Given the description of an element on the screen output the (x, y) to click on. 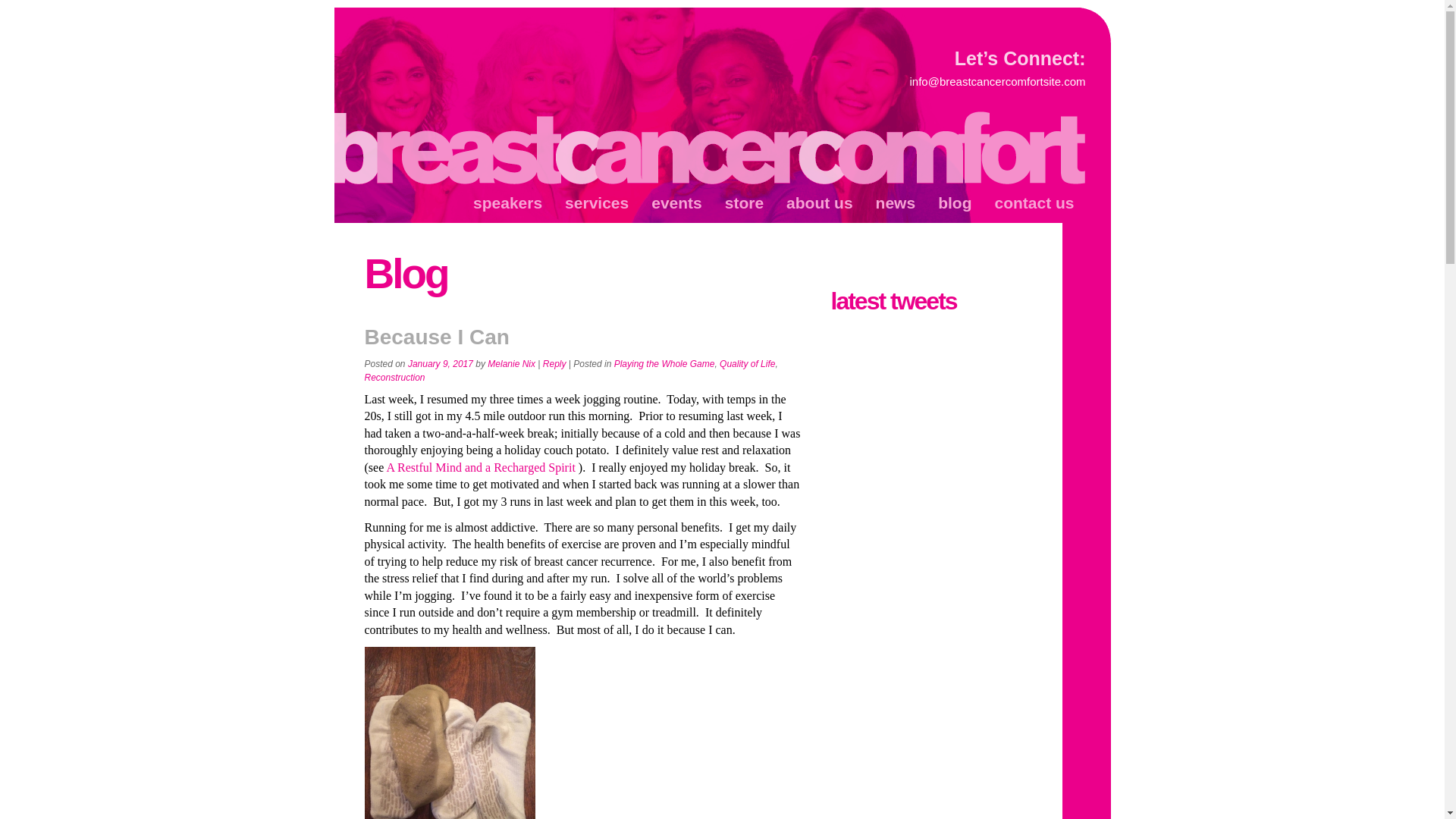
Reconstruction (394, 377)
about us (819, 202)
View all posts by Melanie Nix (511, 363)
events (676, 202)
Reply (554, 363)
2:53 pm (440, 363)
January 9, 2017 (440, 363)
Melanie Nix (511, 363)
services (596, 202)
Playing the Whole Game (664, 363)
Breast Cancer Comfort (711, 148)
A Restful Mind and a Recharged Spirit (481, 467)
Quality of Life (746, 363)
speakers (507, 202)
store (743, 202)
